Given the description of an element on the screen output the (x, y) to click on. 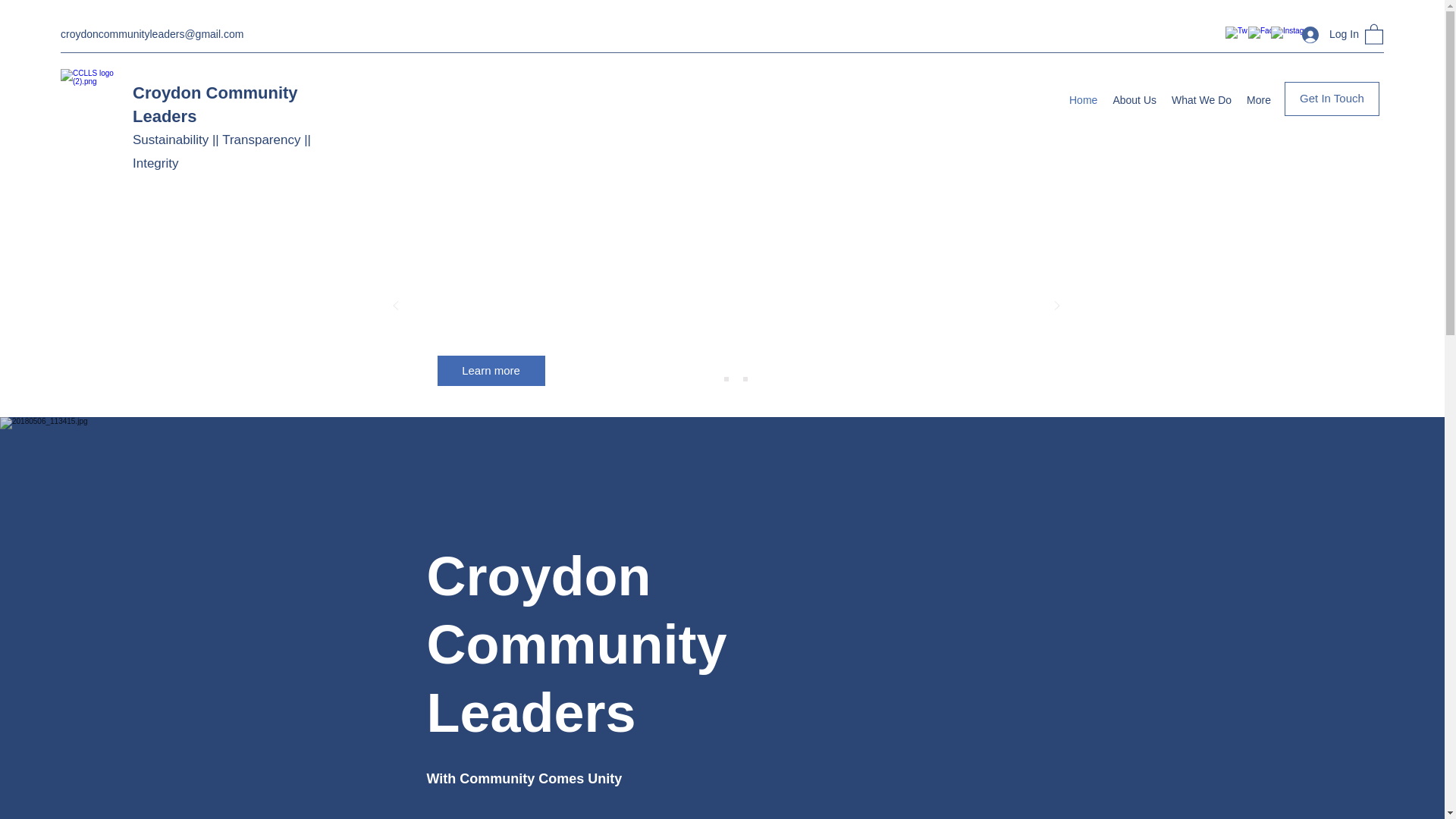
Home (1083, 99)
What We Do (1201, 99)
About Us (1134, 99)
Log In (1325, 34)
Learn more (490, 370)
